Given the description of an element on the screen output the (x, y) to click on. 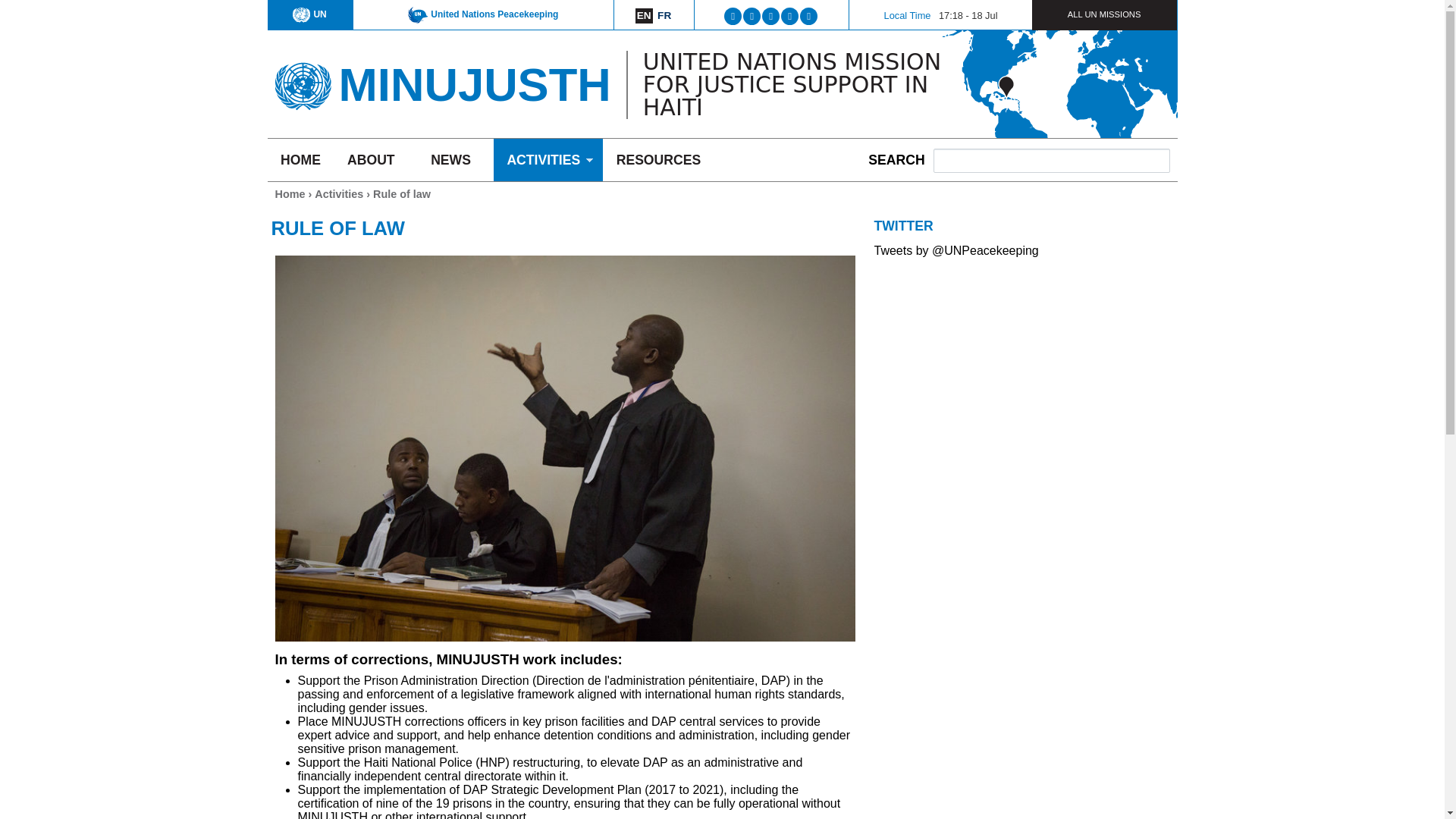
Rule of law (643, 15)
Activities (338, 193)
Home (289, 193)
HOME (299, 159)
ALL UN MISSIONS (1105, 13)
Enter the terms you wish to search for. (1051, 160)
Home (473, 84)
MINUJUSTH (473, 84)
Home (301, 80)
FR (664, 15)
EN (643, 15)
United Nations Peacekeeping (482, 14)
UN (309, 14)
